Given the description of an element on the screen output the (x, y) to click on. 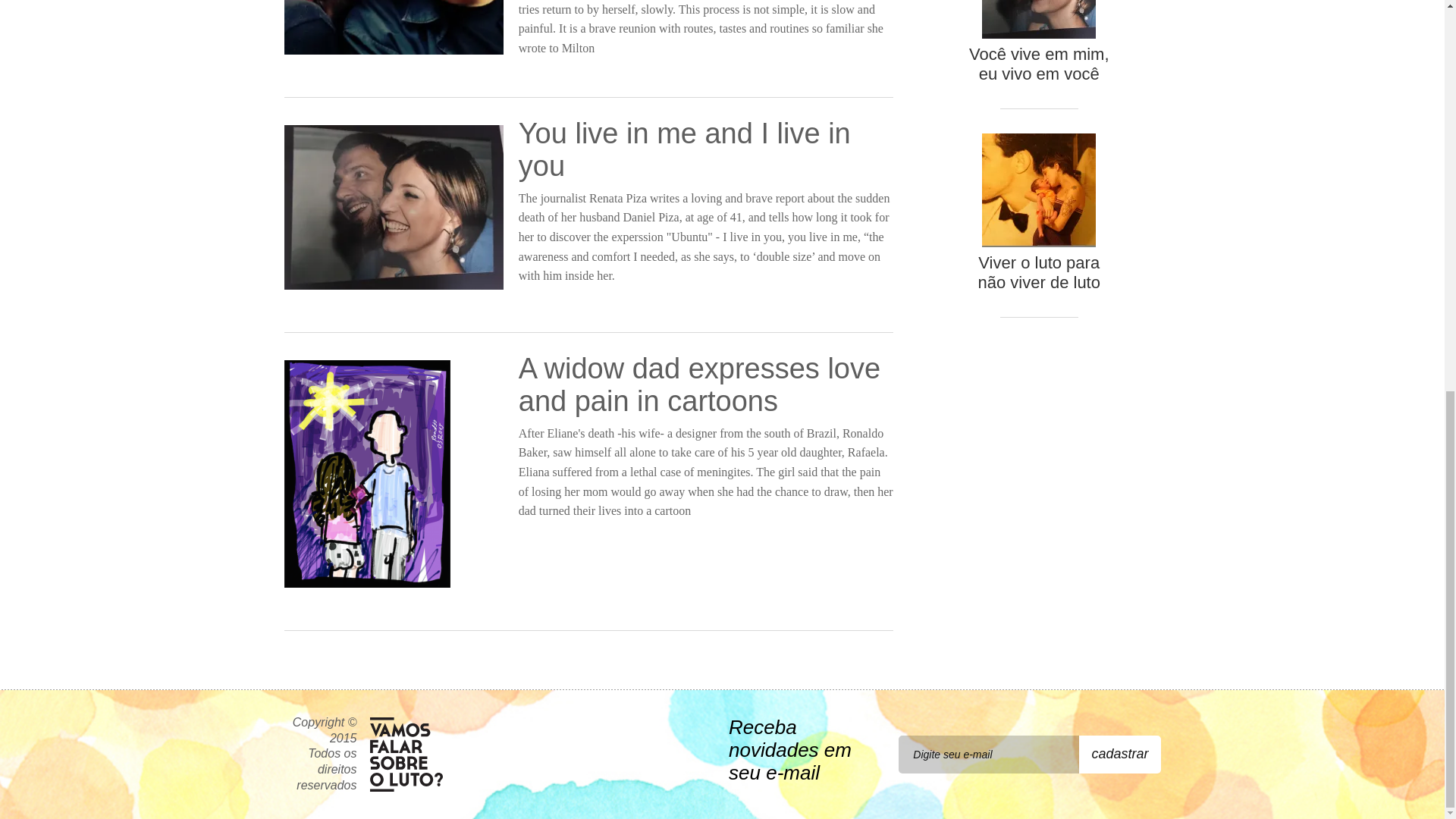
Cadastrar (1119, 754)
